Given the description of an element on the screen output the (x, y) to click on. 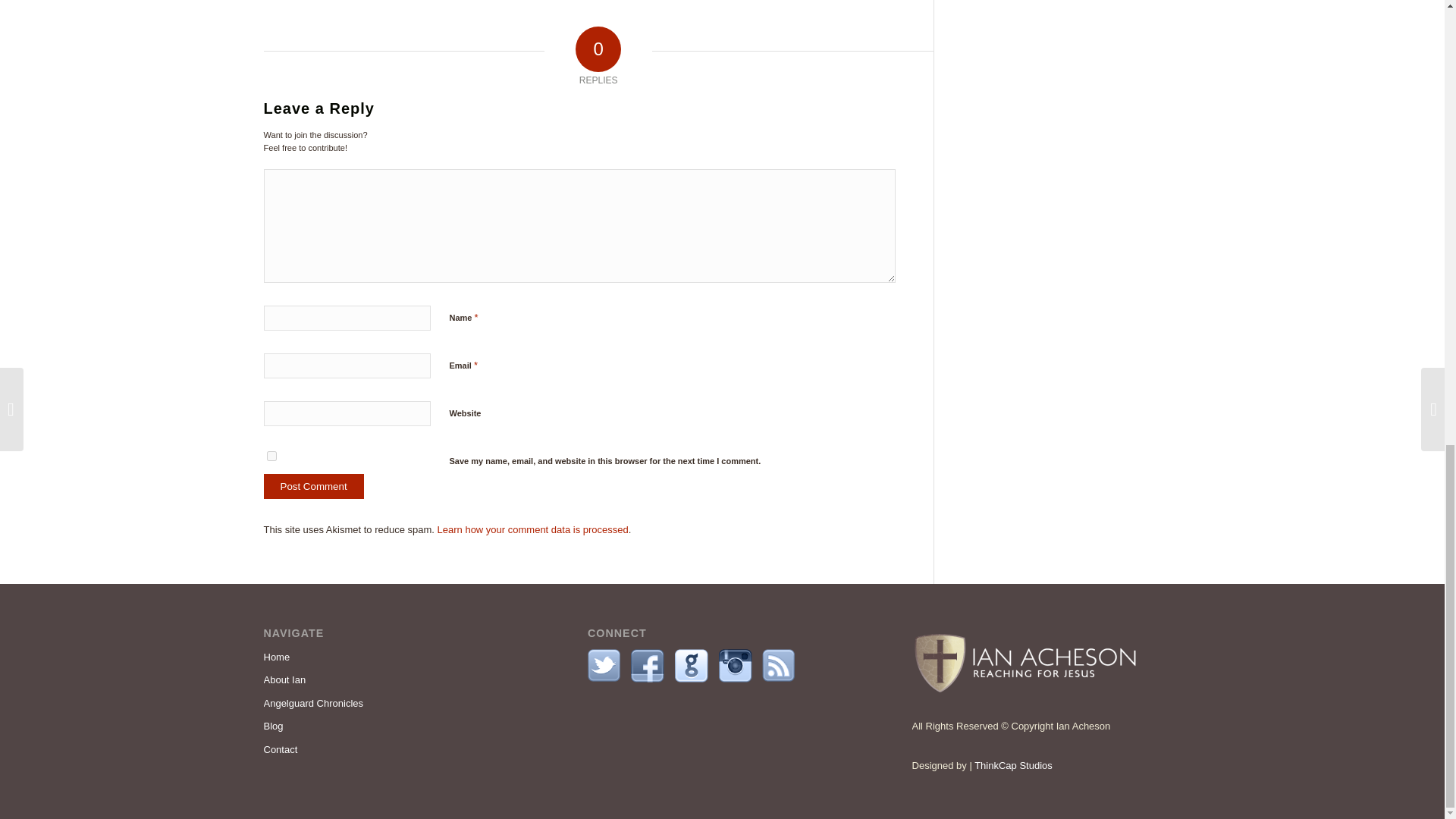
Post Comment (313, 486)
yes (271, 456)
